Given the description of an element on the screen output the (x, y) to click on. 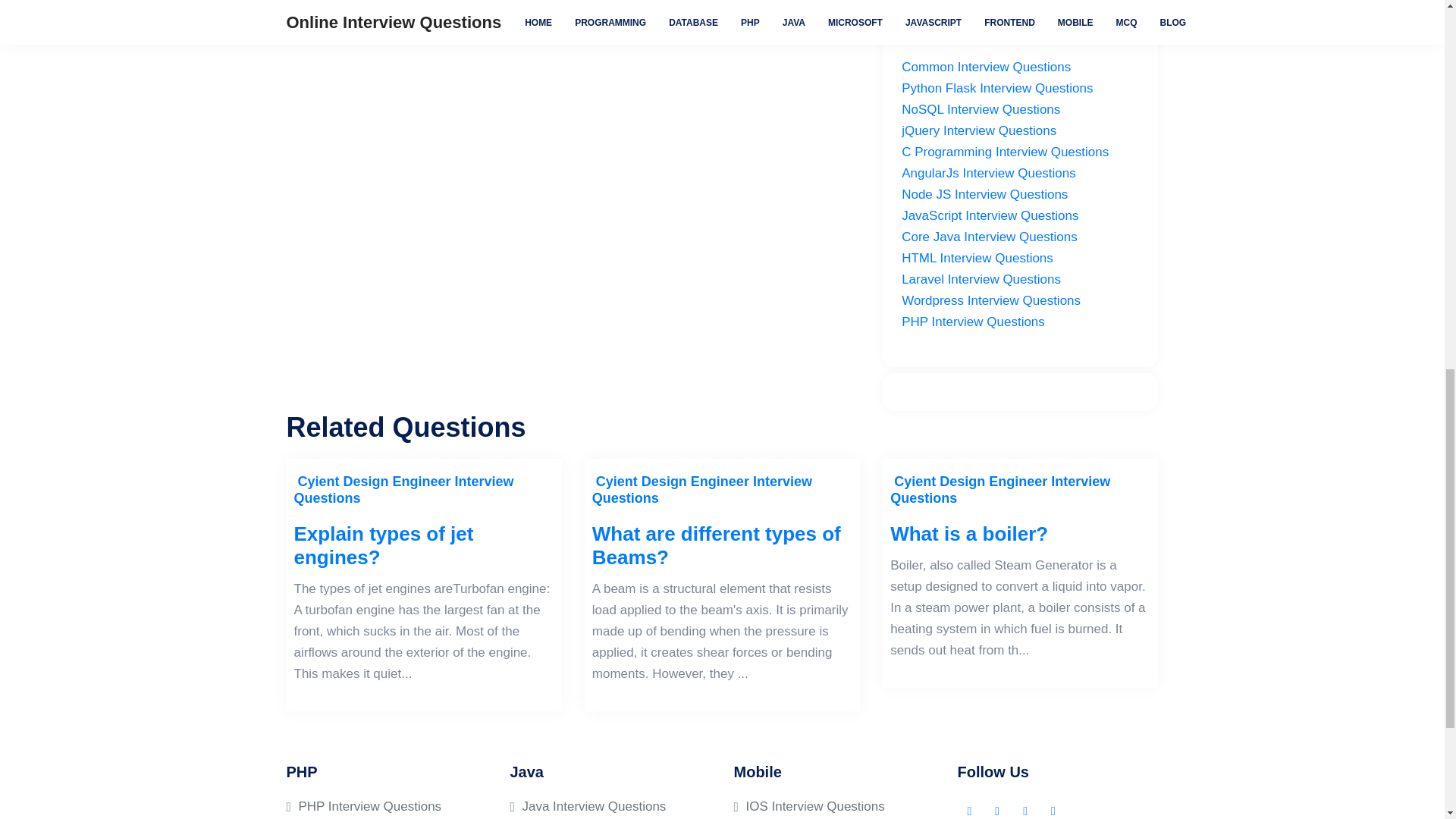
Python Flask Interview Questions (997, 88)
What is a boiler? (1019, 534)
AngularJs Interview Questions (988, 173)
Register (402, 12)
jQuery Interview Questions (979, 130)
Explain types of jet engines? (424, 545)
Login (345, 12)
Common Interview Questions (985, 66)
NoSQL Interview Questions (980, 109)
What are different types of Beams? (721, 545)
